Given the description of an element on the screen output the (x, y) to click on. 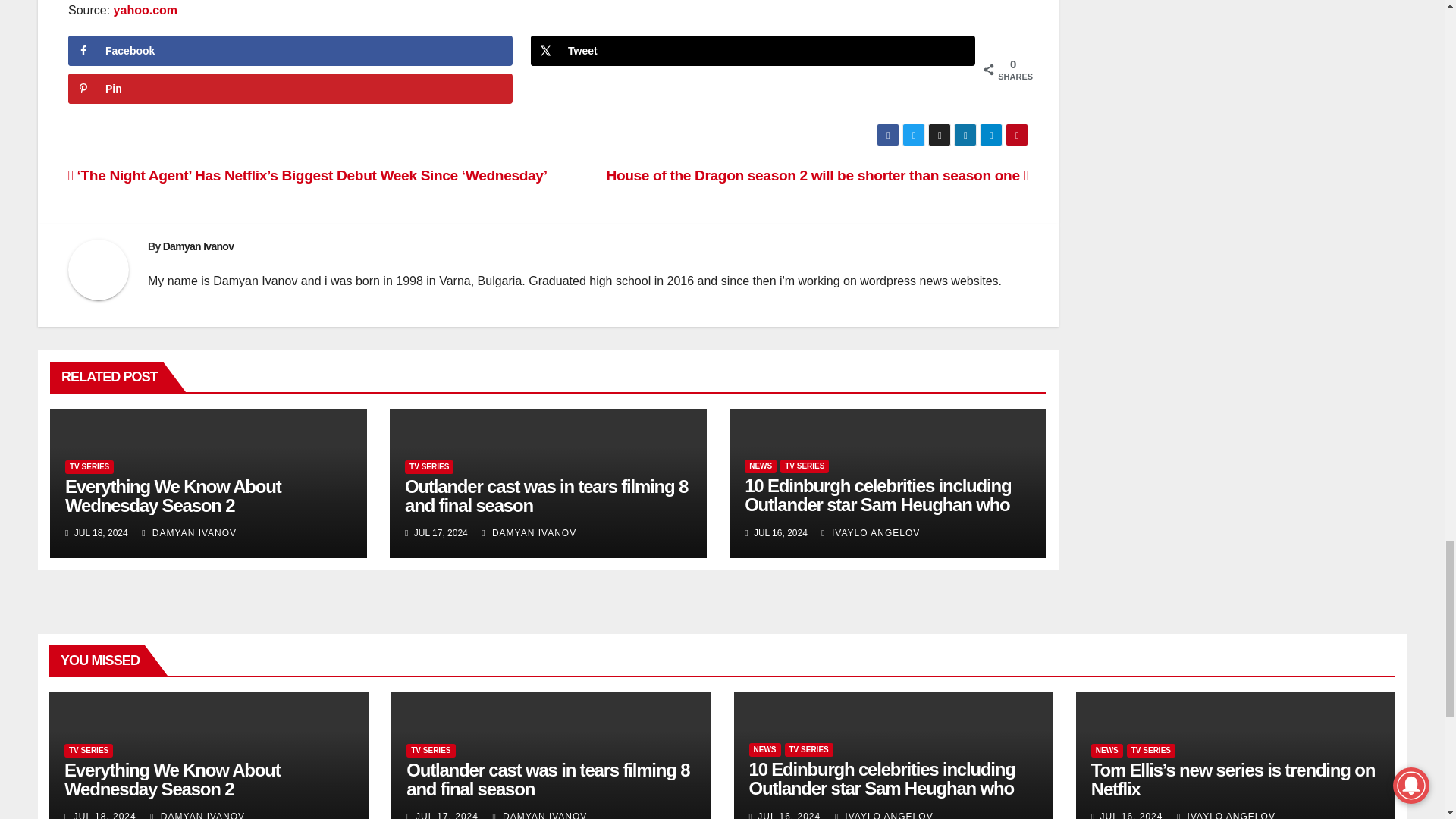
Facebook (290, 51)
Pin (290, 88)
Tweet (753, 51)
Share on Facebook (290, 51)
Share on X (753, 51)
yahoo.com (145, 10)
